Given the description of an element on the screen output the (x, y) to click on. 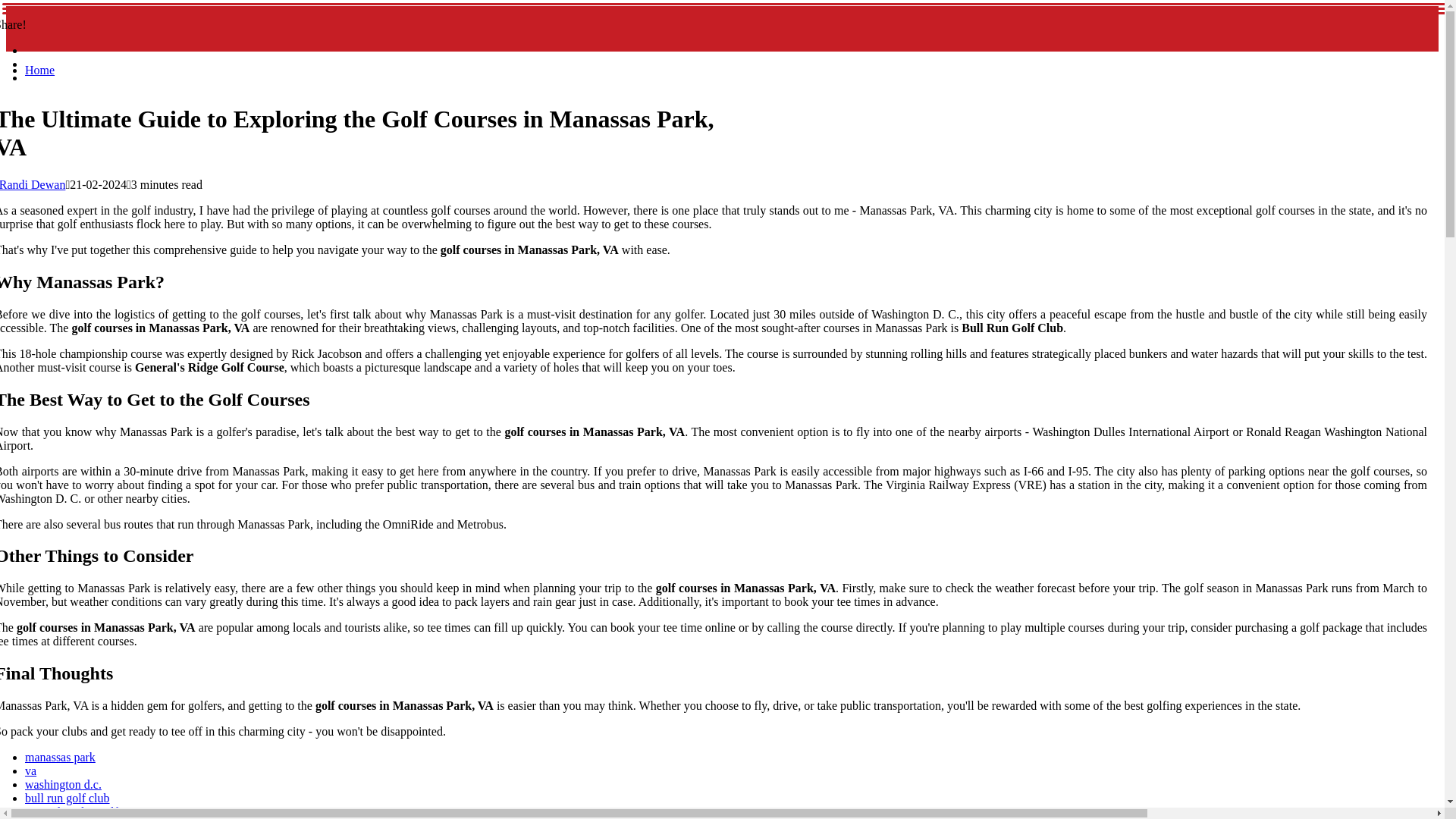
manassas park (60, 757)
Randi Dewan (32, 184)
washington d.c. (62, 784)
bull run golf club (67, 797)
Posts by Randi Dewan (32, 184)
Home (39, 69)
general's ridge golf course (88, 811)
